Given the description of an element on the screen output the (x, y) to click on. 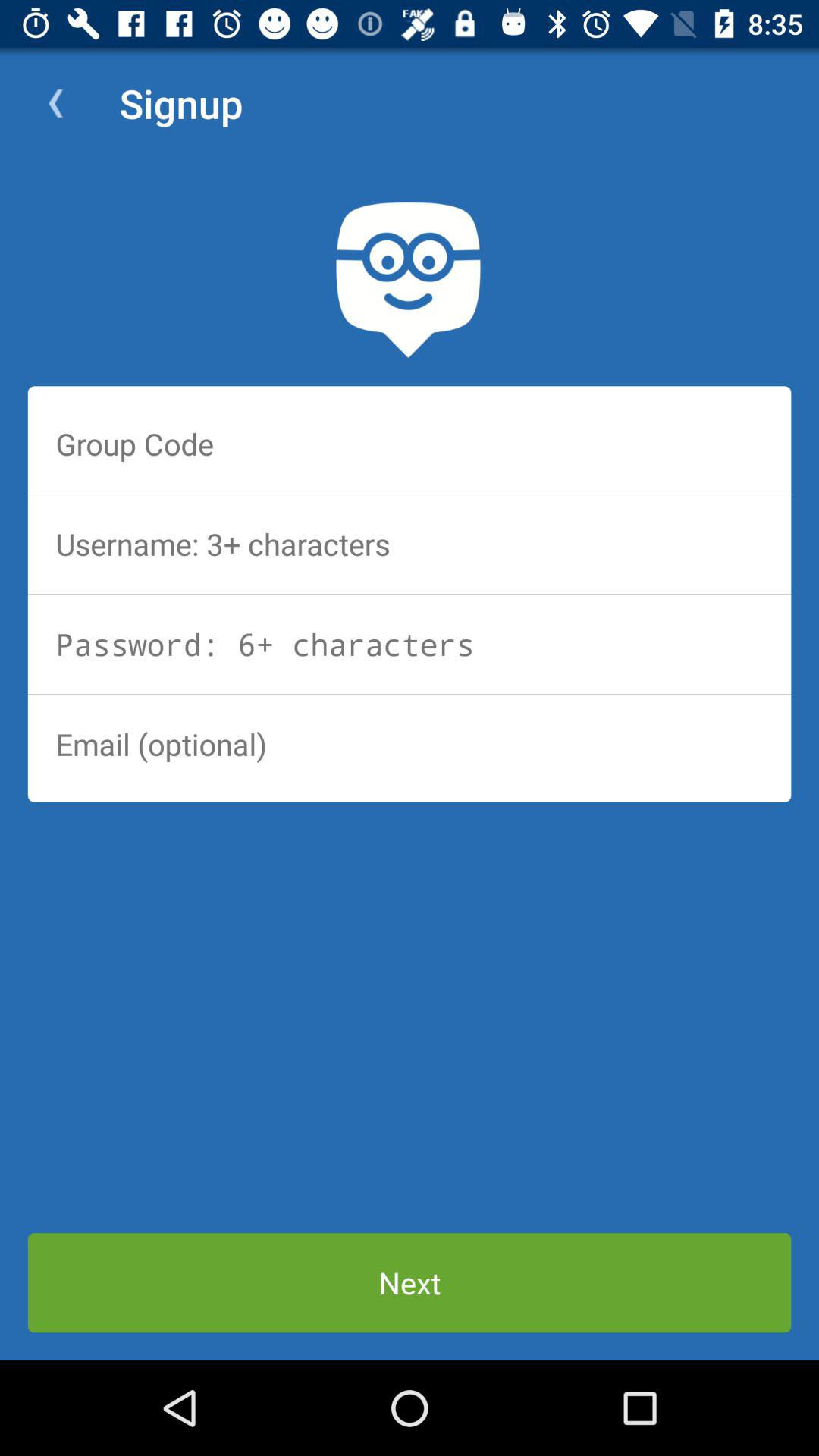
choose the item next to signup app (55, 103)
